Given the description of an element on the screen output the (x, y) to click on. 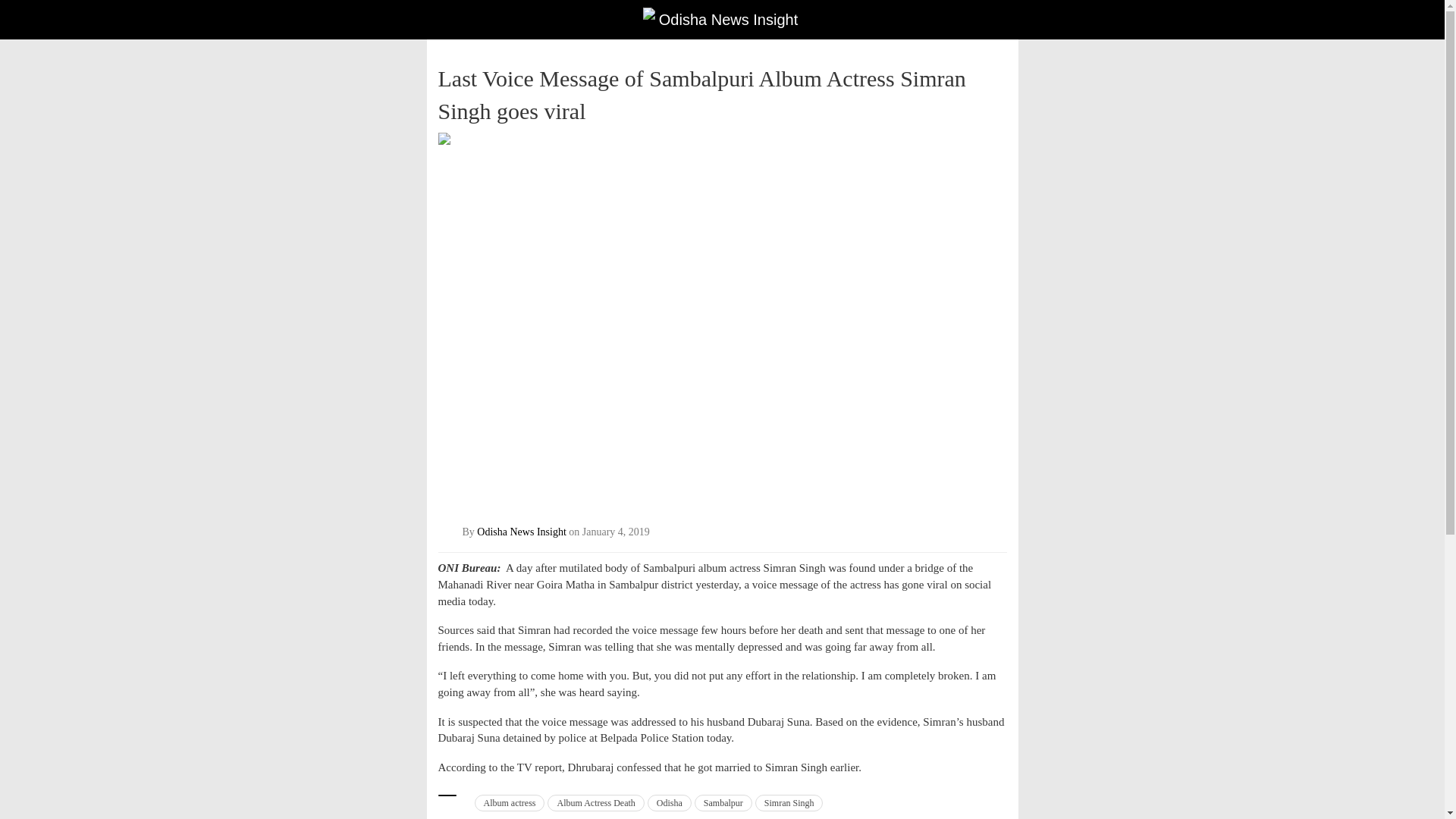
Odisha News Insight (521, 532)
Album Actress Death (595, 802)
Simran Singh (789, 802)
Odisha (669, 802)
Album actress (509, 802)
Sambalpur (723, 802)
